Given the description of an element on the screen output the (x, y) to click on. 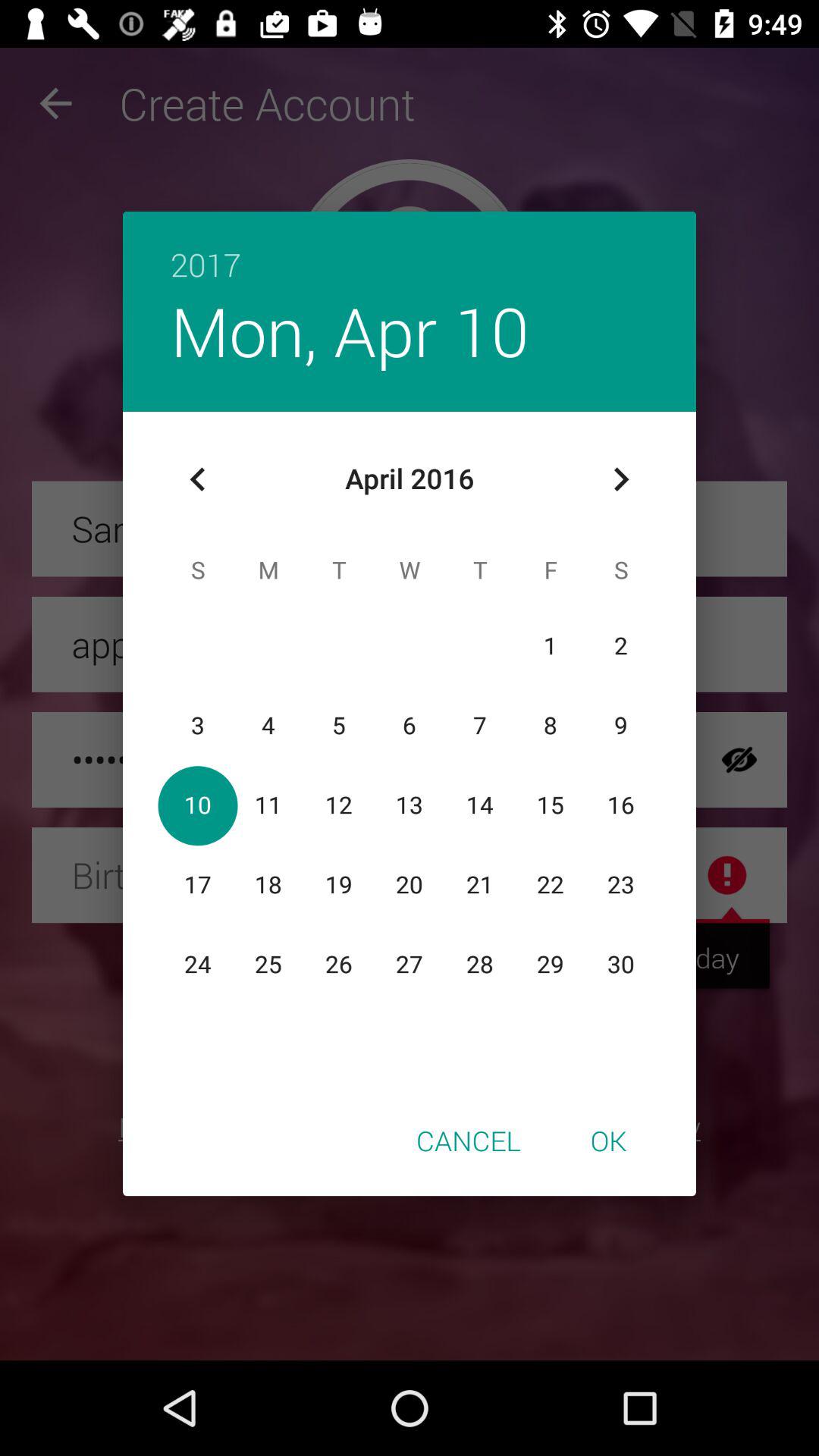
open icon at the bottom (468, 1140)
